Given the description of an element on the screen output the (x, y) to click on. 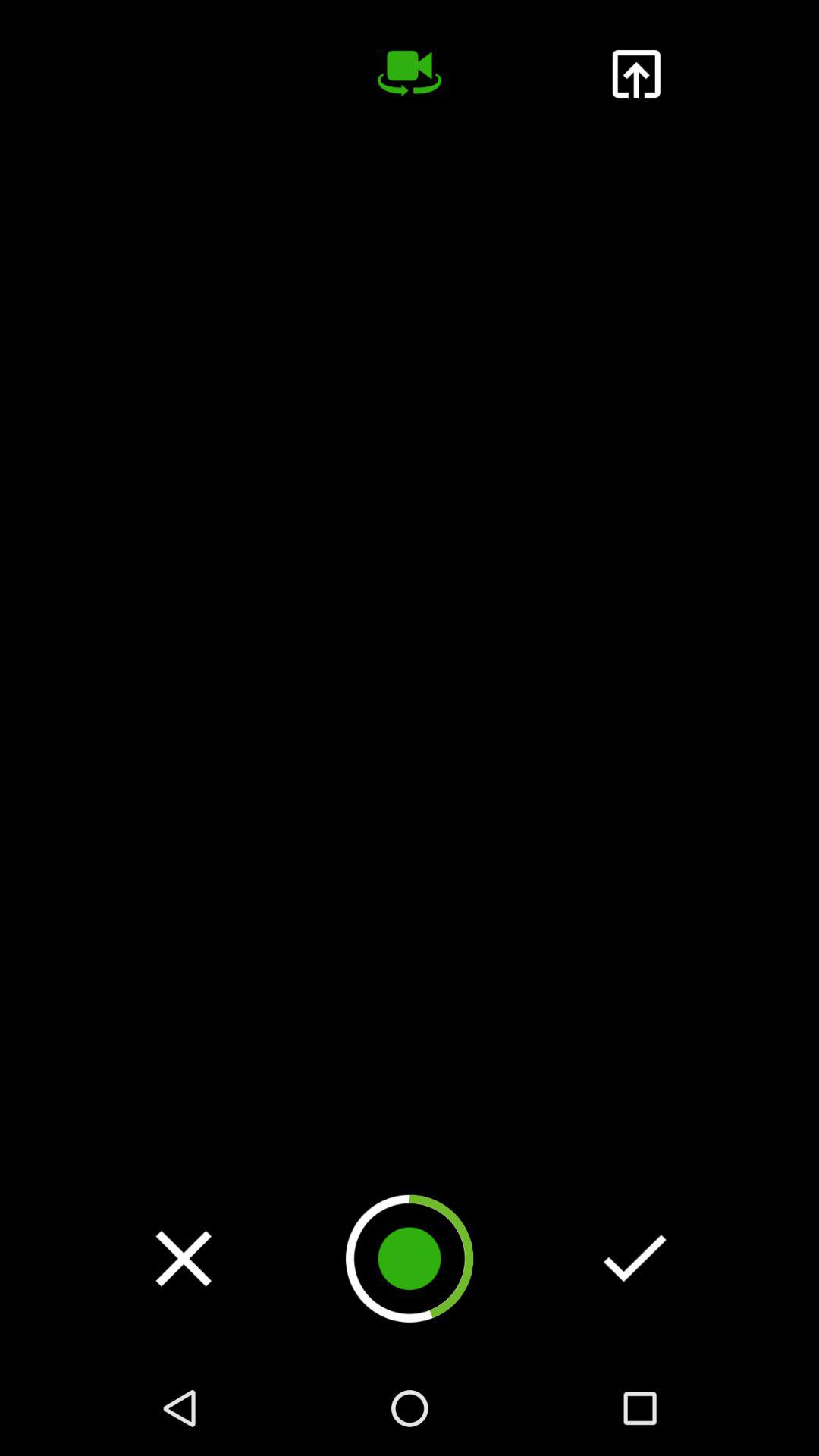
turn off the item at the bottom left corner (183, 1258)
